Given the description of an element on the screen output the (x, y) to click on. 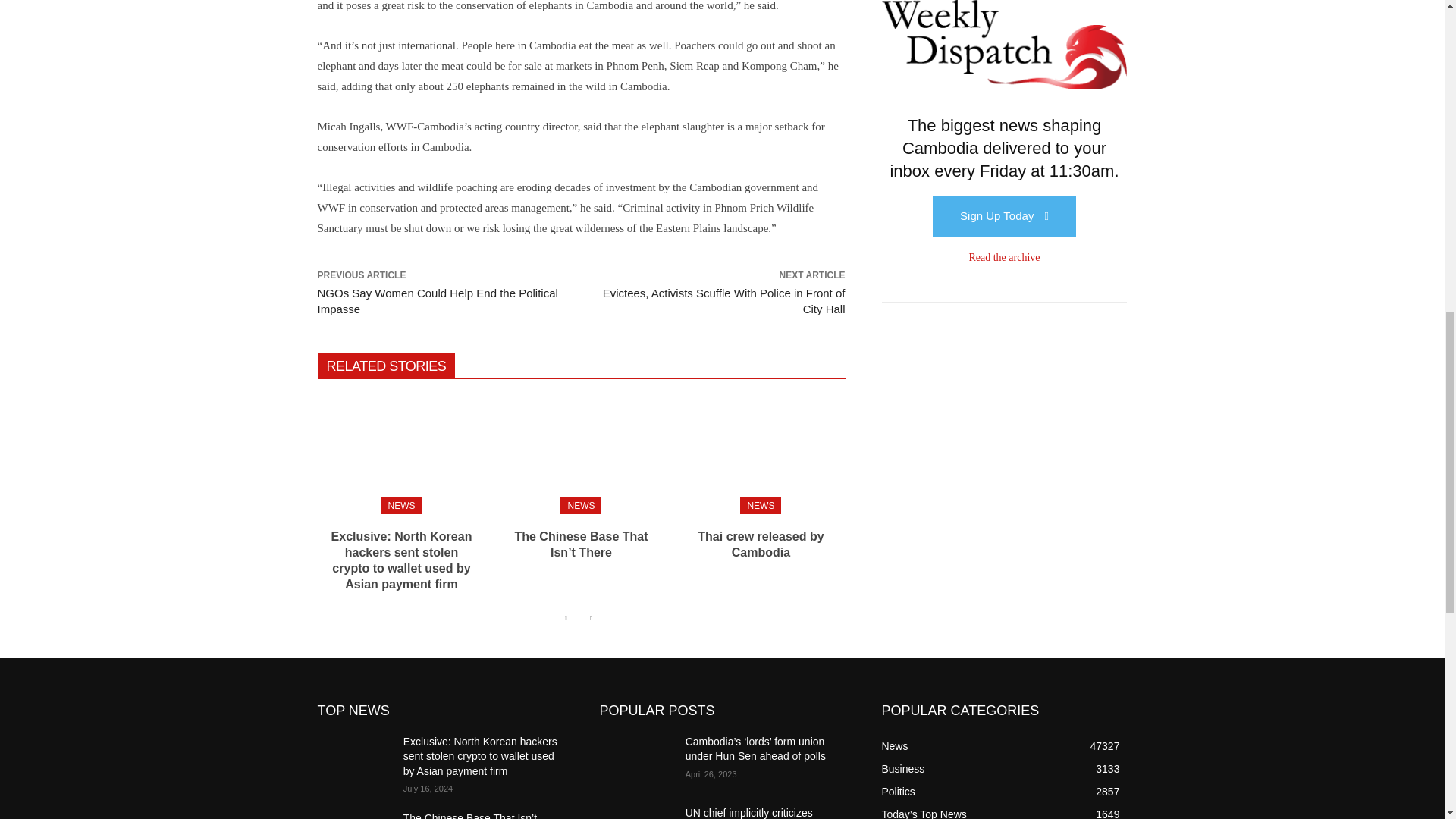
Thai crew released by Cambodia (760, 543)
NEWS (580, 505)
NEWS (759, 505)
NEWS (401, 505)
Thai crew released by Cambodia (760, 452)
NGOs Say Women Could Help End the Political Impasse (437, 300)
